Given the description of an element on the screen output the (x, y) to click on. 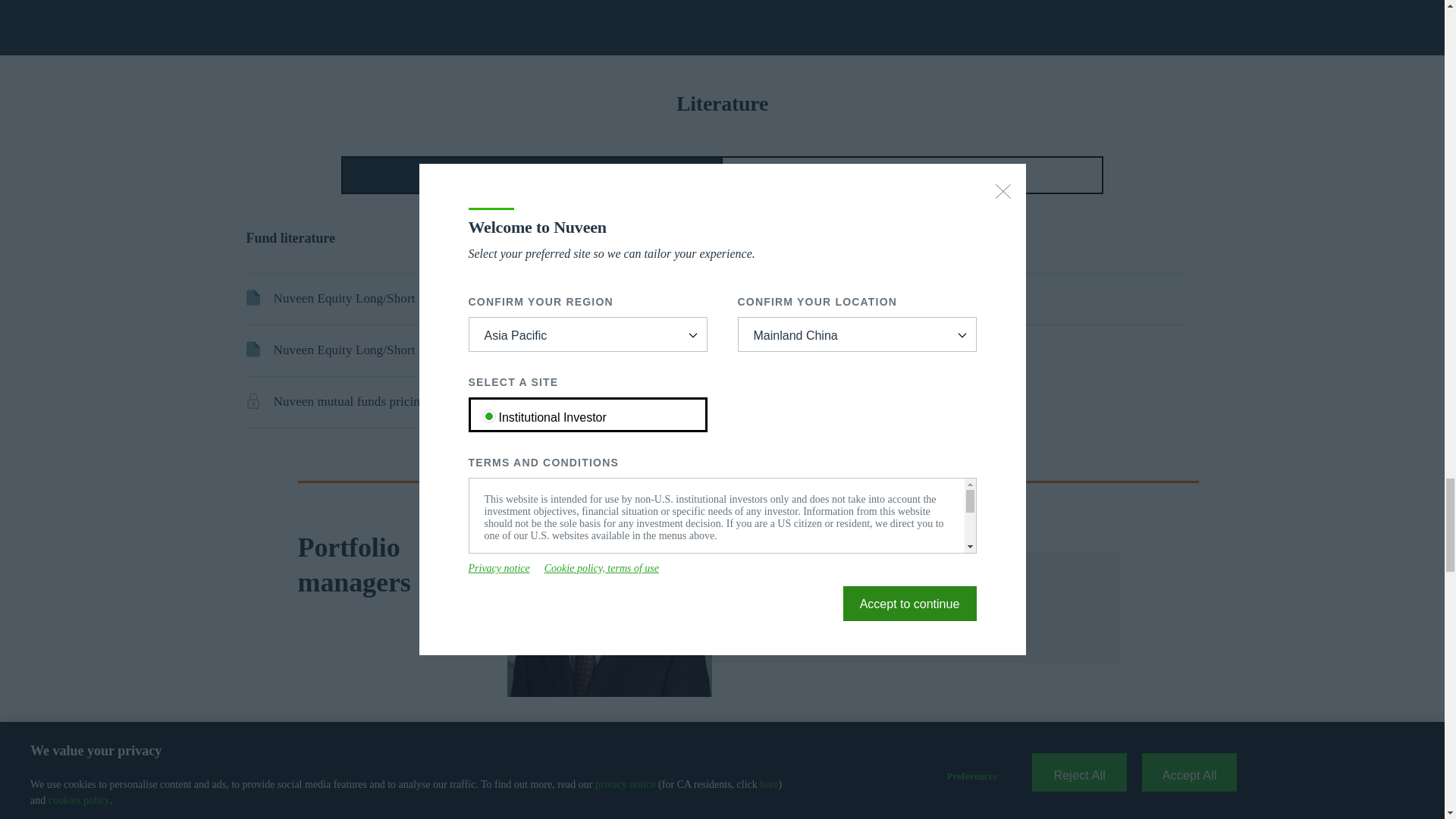
opens in a new window (839, 298)
opens in a new window (394, 298)
opens in a new window (386, 350)
opens in a new window (351, 402)
